Given the description of an element on the screen output the (x, y) to click on. 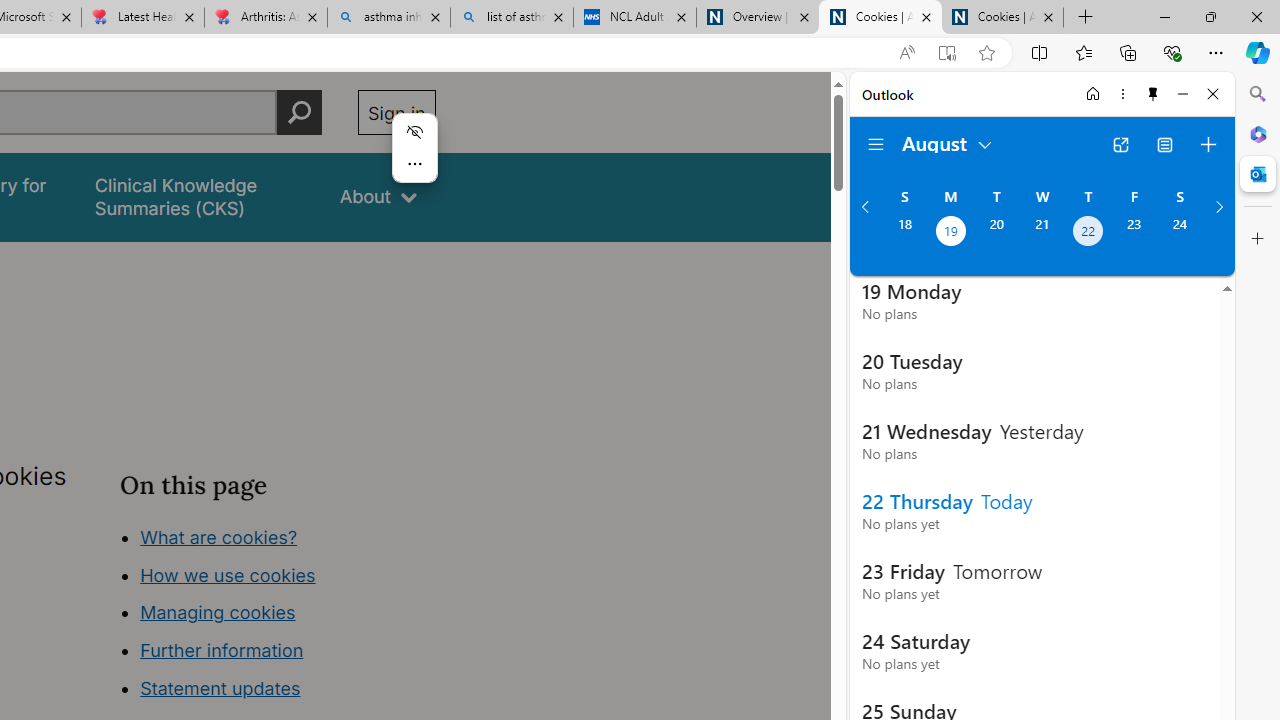
What are cookies? (218, 536)
Hide menu (414, 131)
false (198, 196)
Perform search (299, 112)
Friday, August 23, 2024.  (1134, 233)
